Given the description of an element on the screen output the (x, y) to click on. 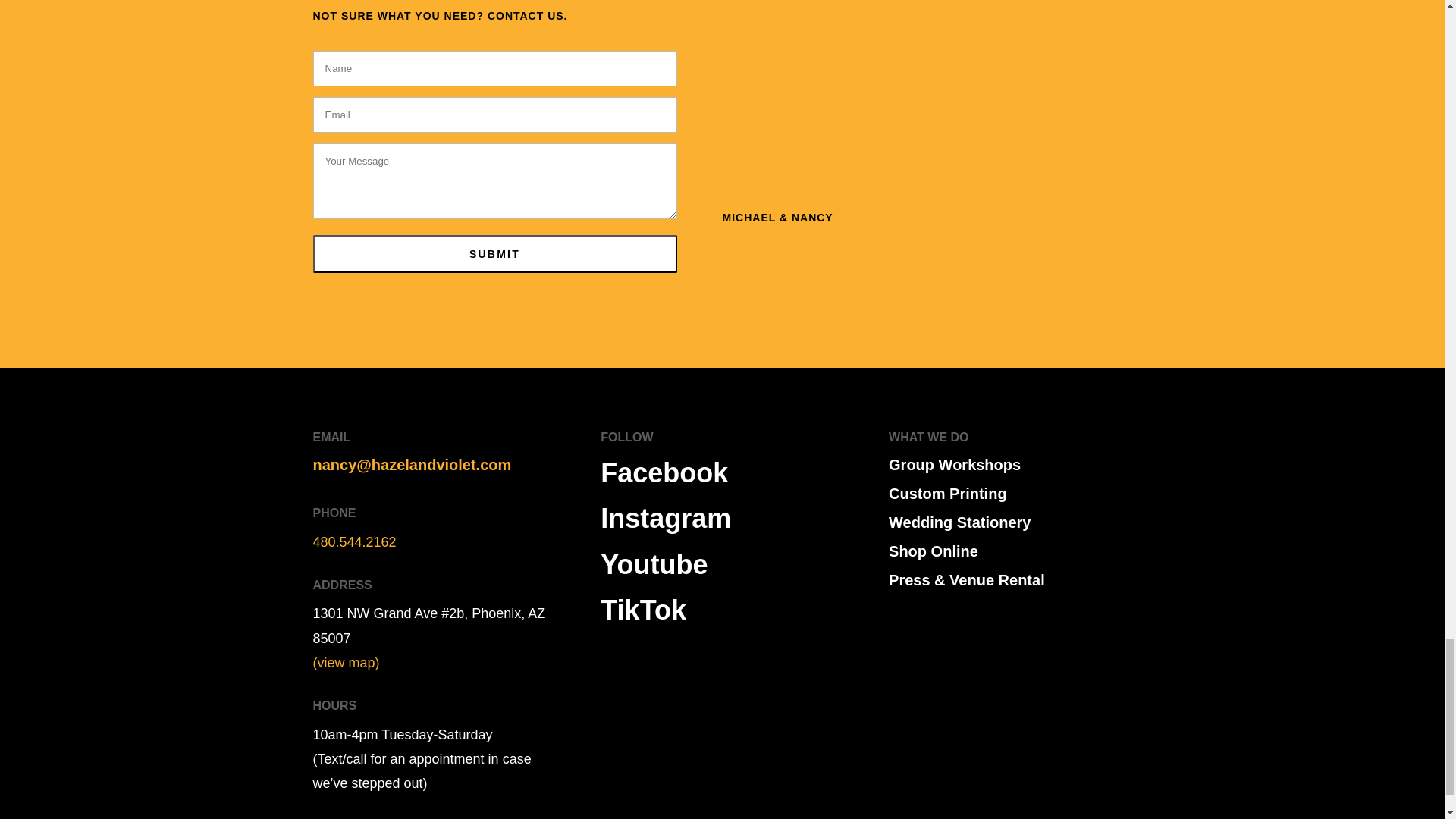
Submit (495, 253)
Facebook (663, 472)
Shop Online (933, 550)
Youtube (653, 563)
Instagram (664, 517)
Wedding Stationery (959, 522)
Group Workshops (954, 464)
480.544.2162 (354, 541)
Custom Printing (947, 493)
Nancy and Michael (926, 105)
